Given the description of an element on the screen output the (x, y) to click on. 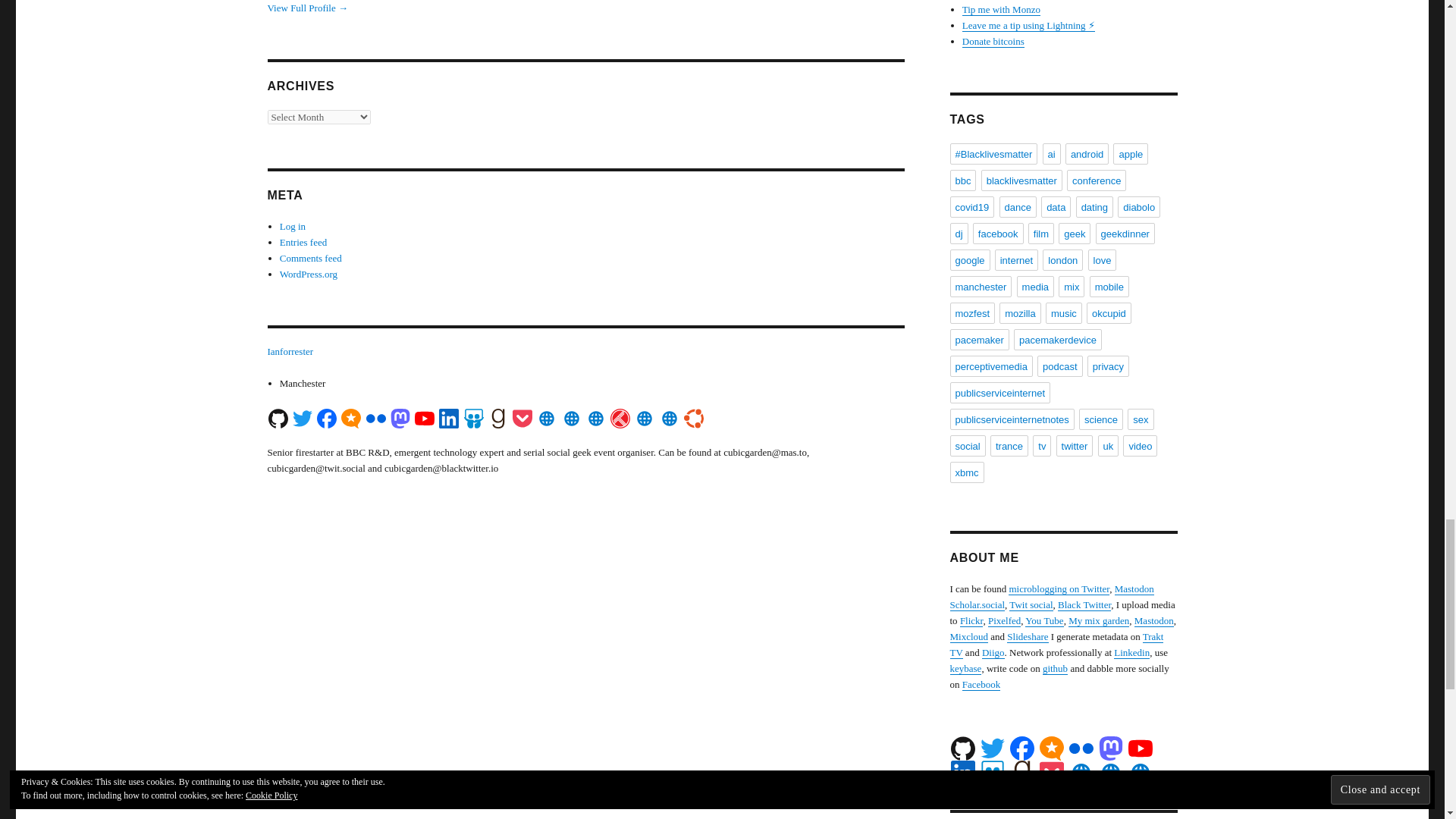
Flickr (375, 418)
Twitter (991, 748)
Trakt (620, 418)
Facebook (326, 418)
Entries feed (302, 242)
Comments feed (310, 257)
SlideShare (473, 418)
Ubuntu (693, 418)
YouTube (423, 418)
GitHub (277, 418)
